Given the description of an element on the screen output the (x, y) to click on. 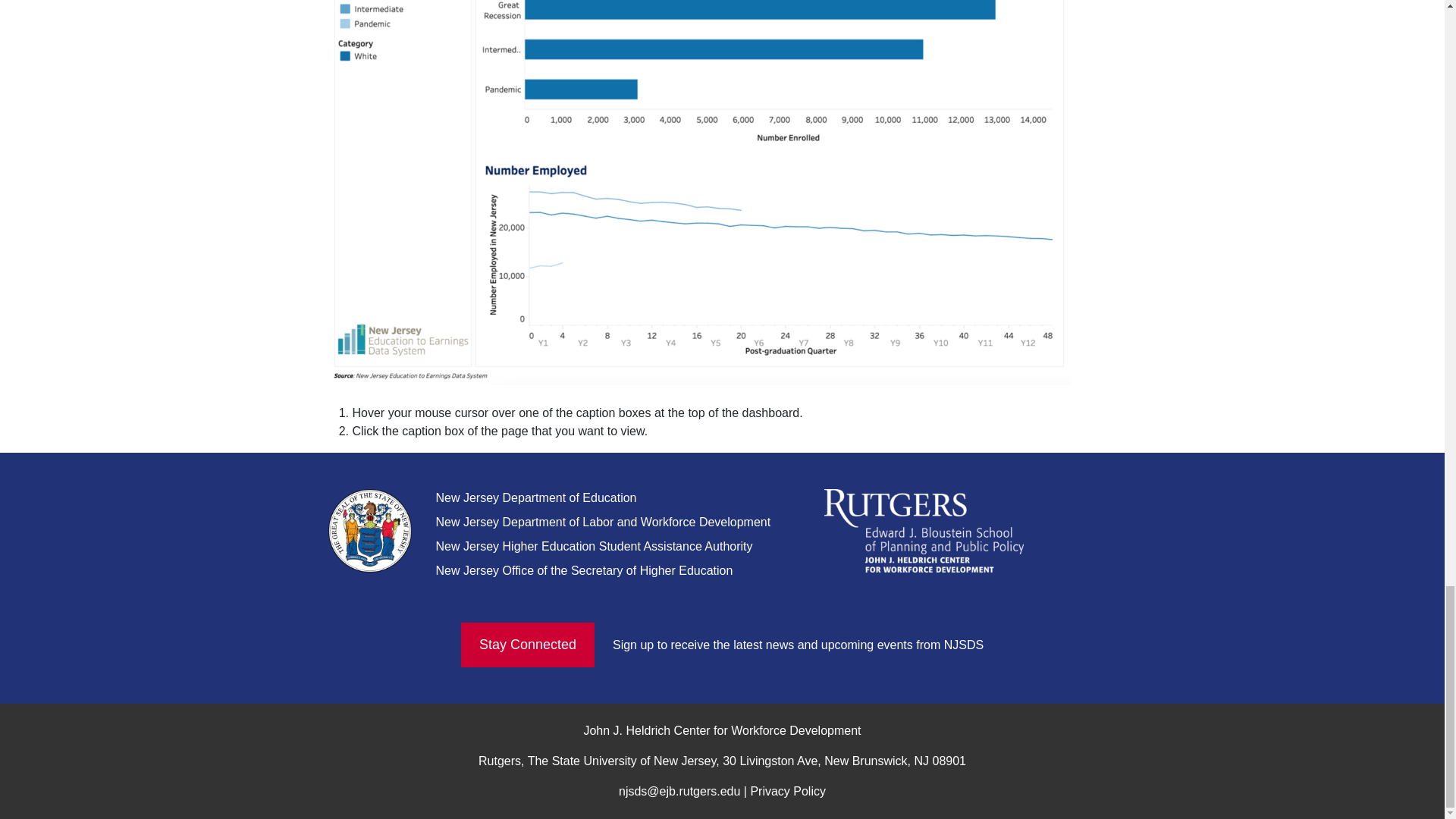
New Jersey Higher Education Student Assistance Authority (593, 546)
New Jersey Department of Labor and Workforce Development (602, 522)
New Jersey Office of the Secretary of Higher Education (583, 570)
Privacy Policy (787, 790)
New Jersey Department of Education (535, 497)
Stay Connected (527, 644)
